Given the description of an element on the screen output the (x, y) to click on. 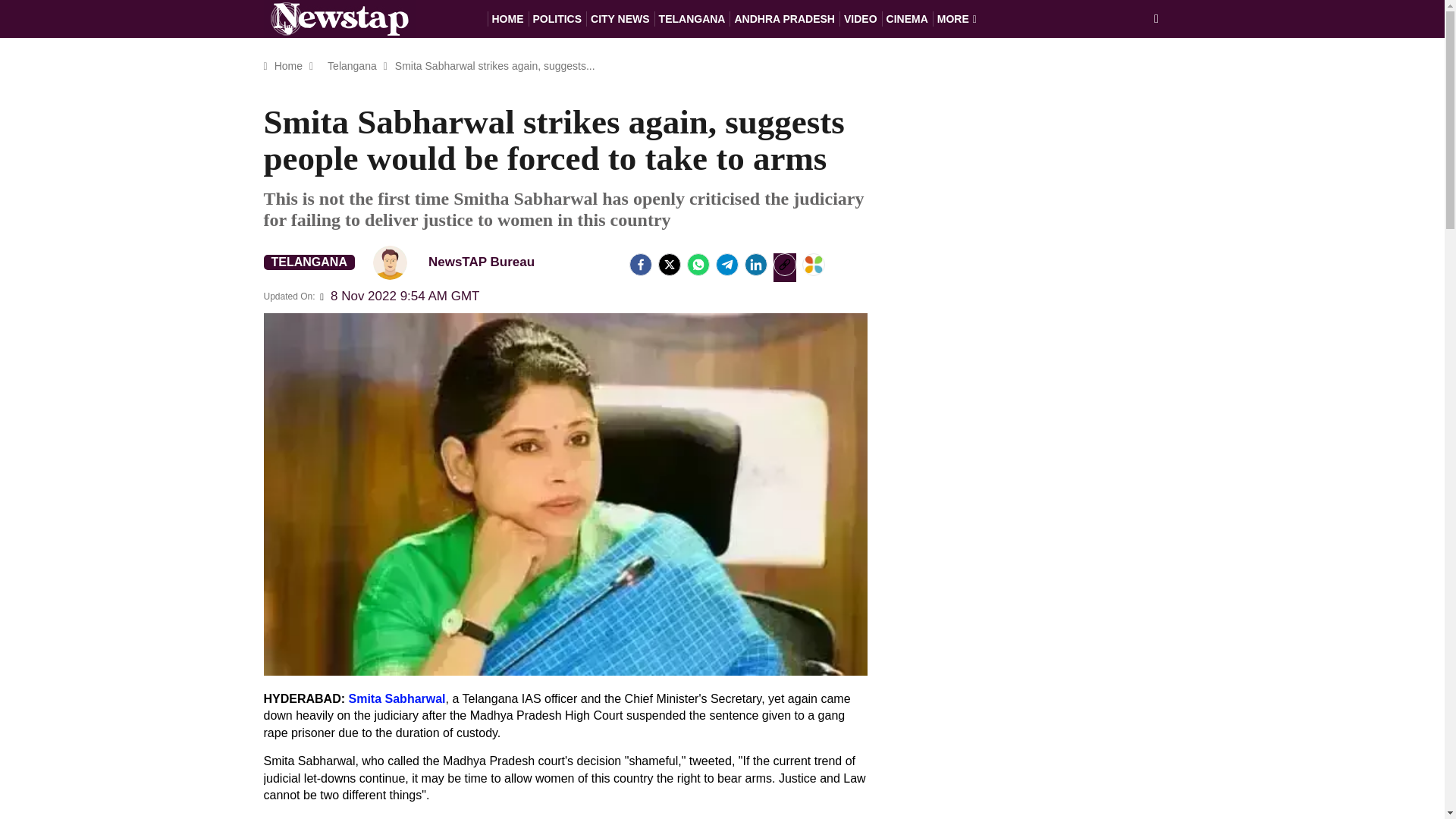
Home (287, 65)
Telangana (352, 65)
LinkedIn (755, 264)
VIDEO (861, 18)
NewsTAP Bureau (389, 262)
POLITICS (556, 18)
MORE (957, 18)
NewsTAP Bureau (460, 261)
TELANGANA (309, 262)
